Given the description of an element on the screen output the (x, y) to click on. 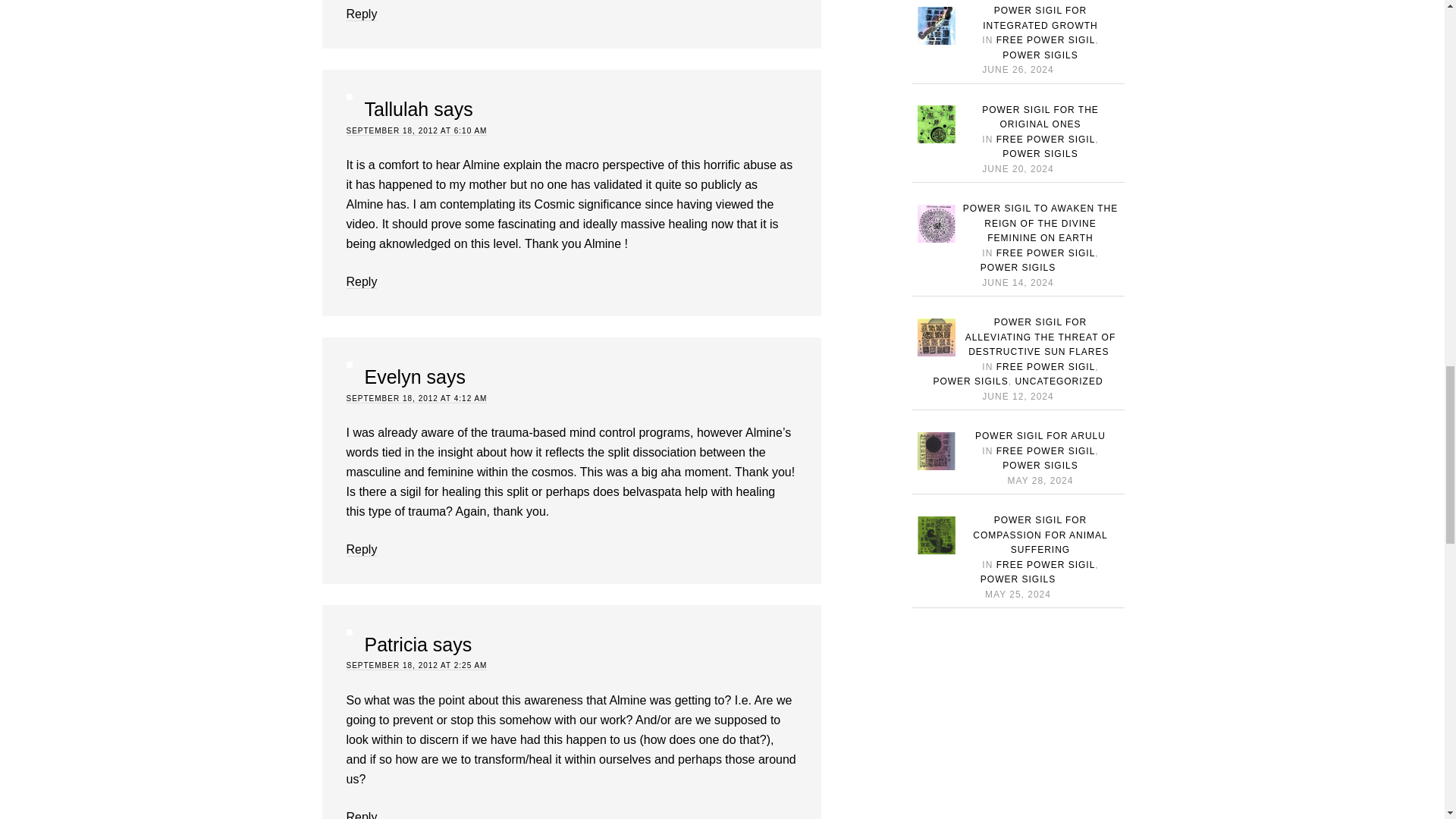
Reply (361, 282)
Reply (361, 549)
SEPTEMBER 18, 2012 AT 6:10 AM (416, 130)
SEPTEMBER 18, 2012 AT 4:12 AM (416, 398)
SEPTEMBER 18, 2012 AT 2:25 AM (416, 665)
Reply (361, 814)
Reply (361, 14)
